Given the description of an element on the screen output the (x, y) to click on. 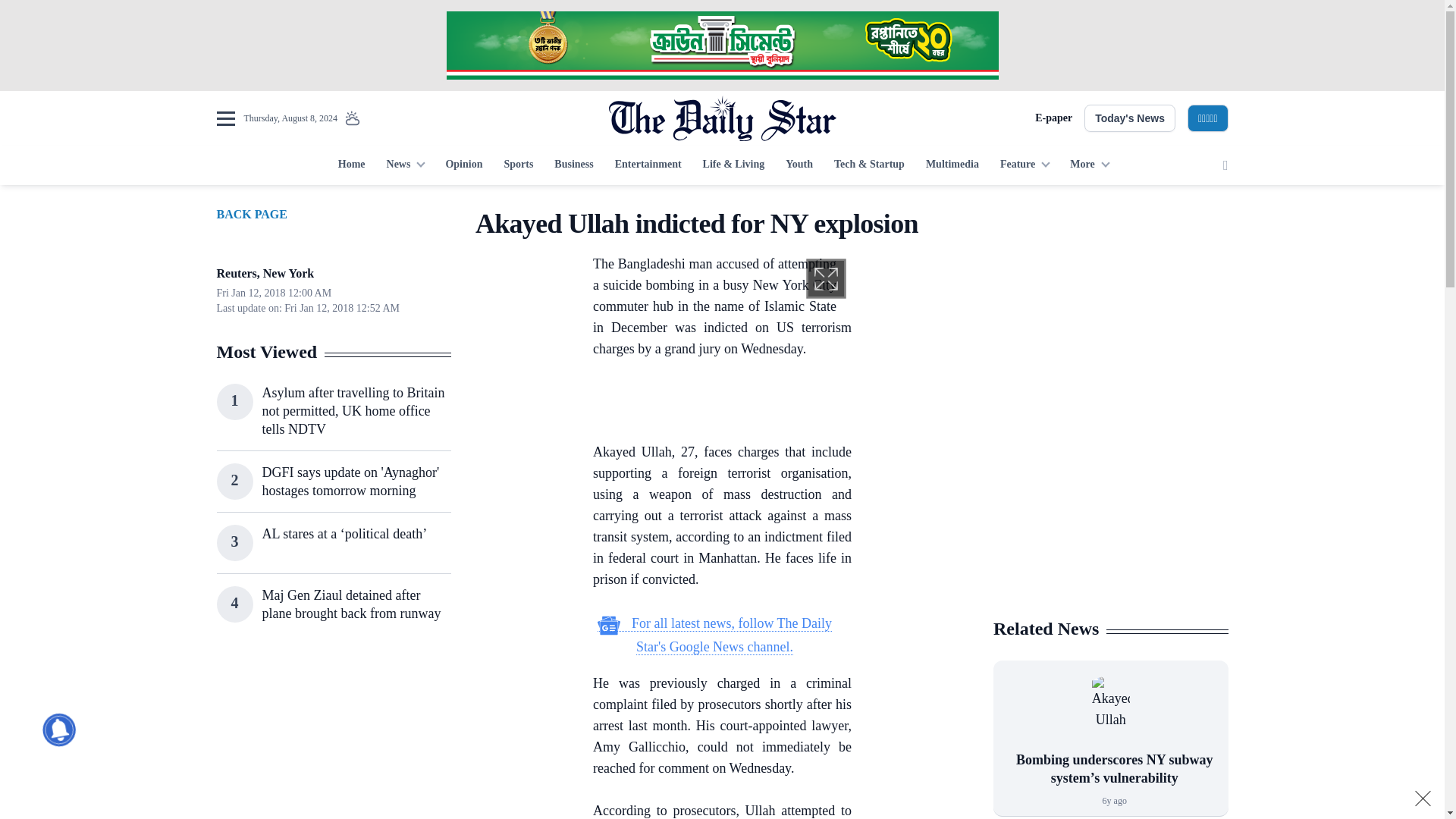
3rd party ad content (1110, 506)
Multimedia (952, 165)
Business (573, 165)
Today's News (1129, 117)
3rd party ad content (1110, 302)
Sports (518, 165)
News (405, 165)
Youth (799, 165)
Opinion (463, 165)
3rd party ad content (769, 402)
Entertainment (647, 165)
3rd party ad content (332, 736)
Feature (1024, 165)
3rd party ad content (721, 45)
